Given the description of an element on the screen output the (x, y) to click on. 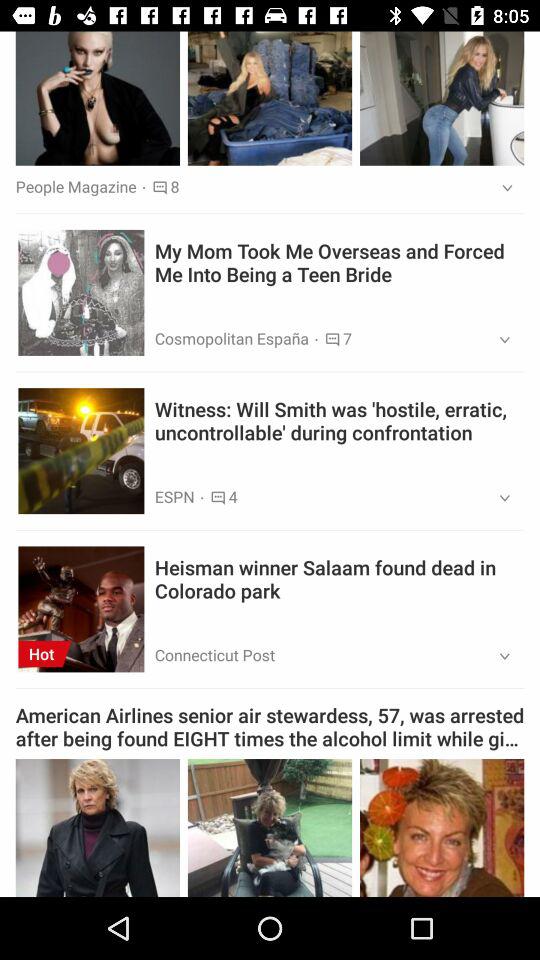
choose the app next to 7 (498, 340)
